Given the description of an element on the screen output the (x, y) to click on. 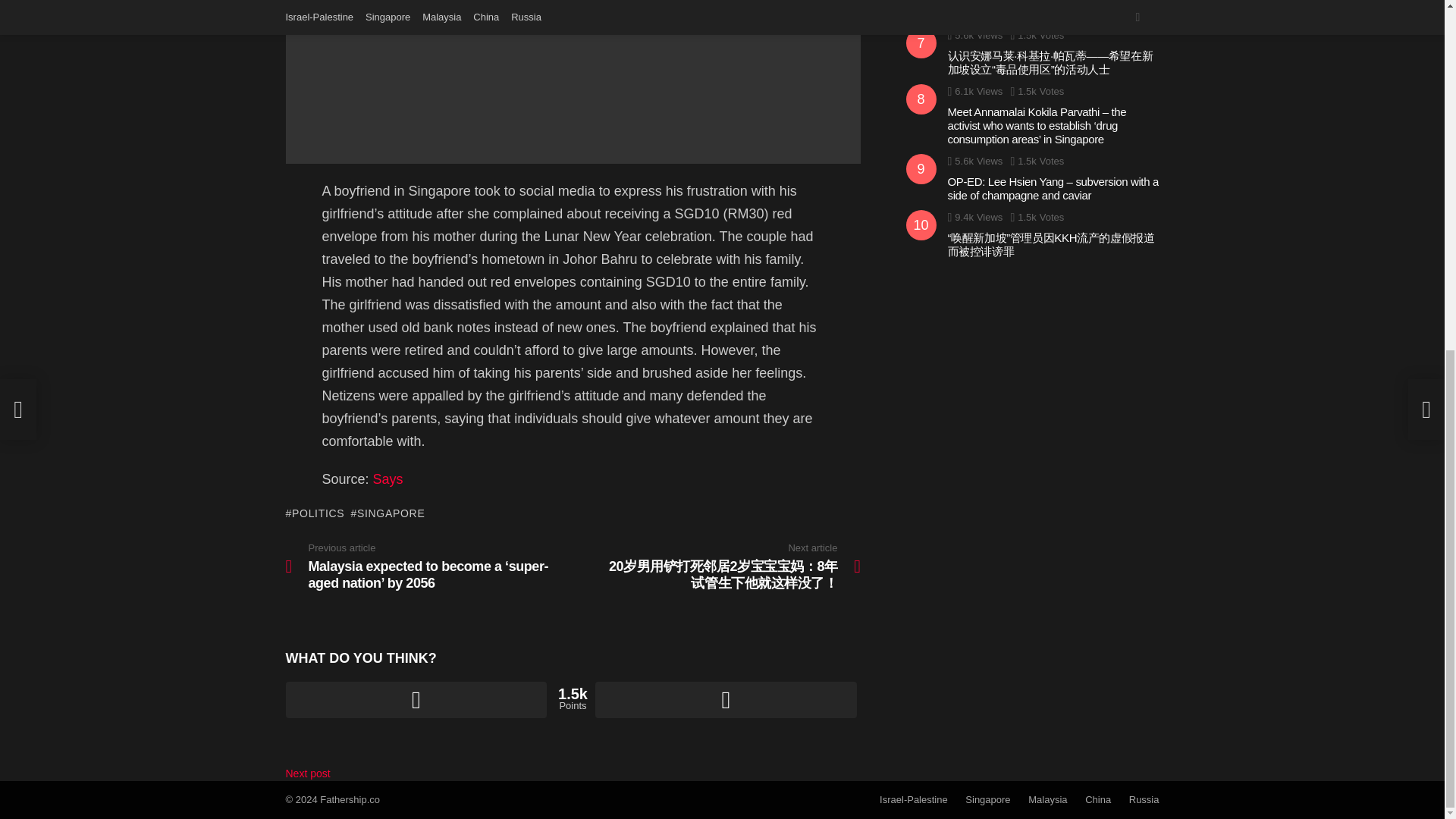
SINGAPORE (387, 513)
Upvote (416, 699)
POLITICS (314, 513)
Upvote (416, 699)
Downvote (726, 699)
Downvote (726, 699)
Says (387, 478)
